Given the description of an element on the screen output the (x, y) to click on. 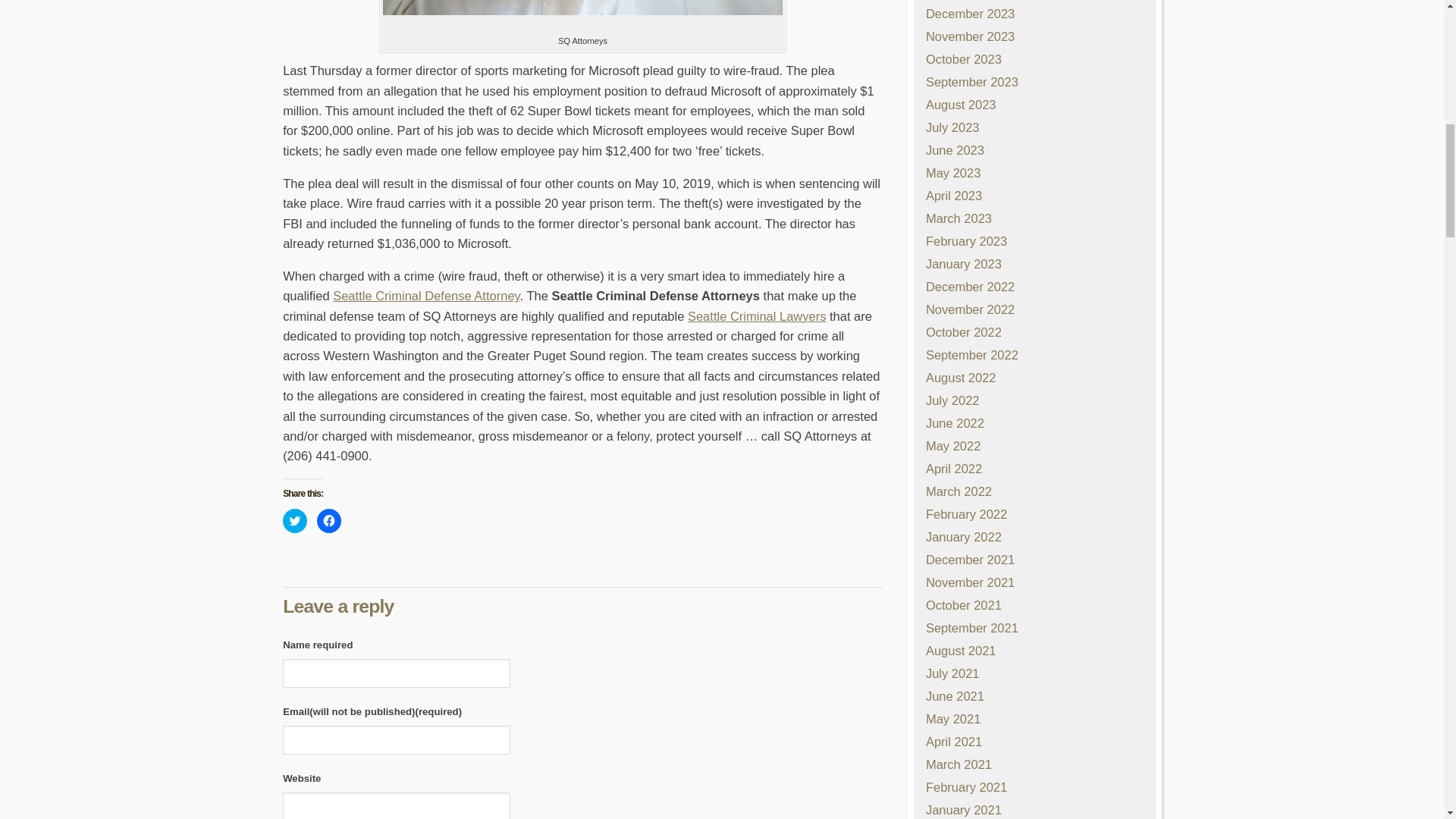
Click to share on Facebook (328, 520)
Click to share on Twitter (294, 520)
SQ Attorneys (582, 7)
